Given the description of an element on the screen output the (x, y) to click on. 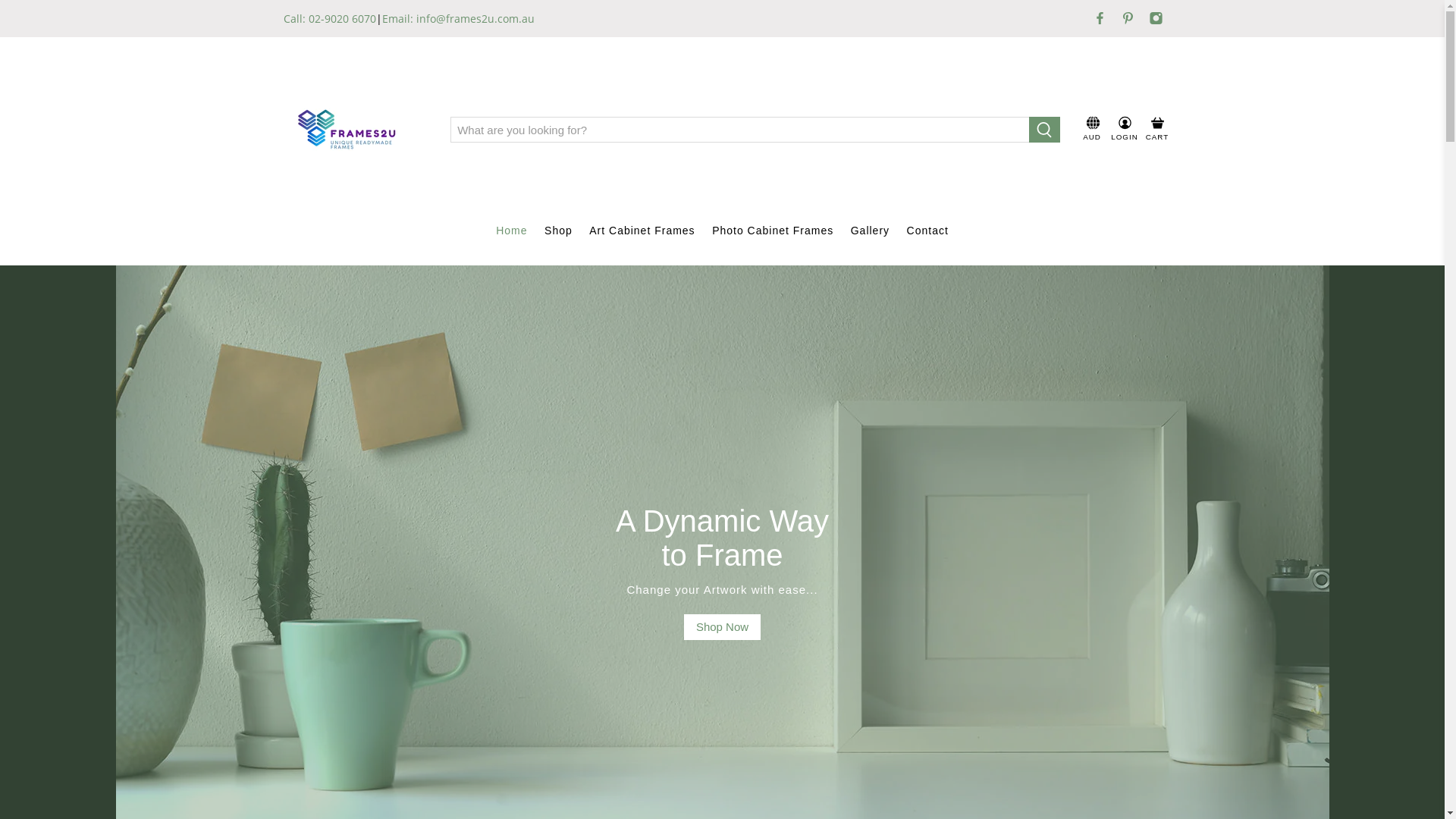
Gallery Element type: text (869, 230)
Art Cabinet Frames Element type: text (641, 230)
Call: 02-9020 6070 Element type: text (329, 18)
Shop Now Element type: text (722, 627)
Frames2U on Pinterest Element type: hover (1127, 18)
Home Element type: text (511, 230)
Frames2U on Instagram Element type: hover (1155, 18)
CART Element type: text (1157, 129)
Frames2U Element type: hover (351, 129)
Shop Now Element type: text (722, 627)
Frames2U on Facebook Element type: hover (1098, 18)
Photo Cabinet Frames Element type: text (772, 230)
LOGIN Element type: text (1124, 129)
Contact Element type: text (927, 230)
Shop Element type: text (558, 230)
Email: info@frames2u.com.au Element type: text (458, 18)
